Given the description of an element on the screen output the (x, y) to click on. 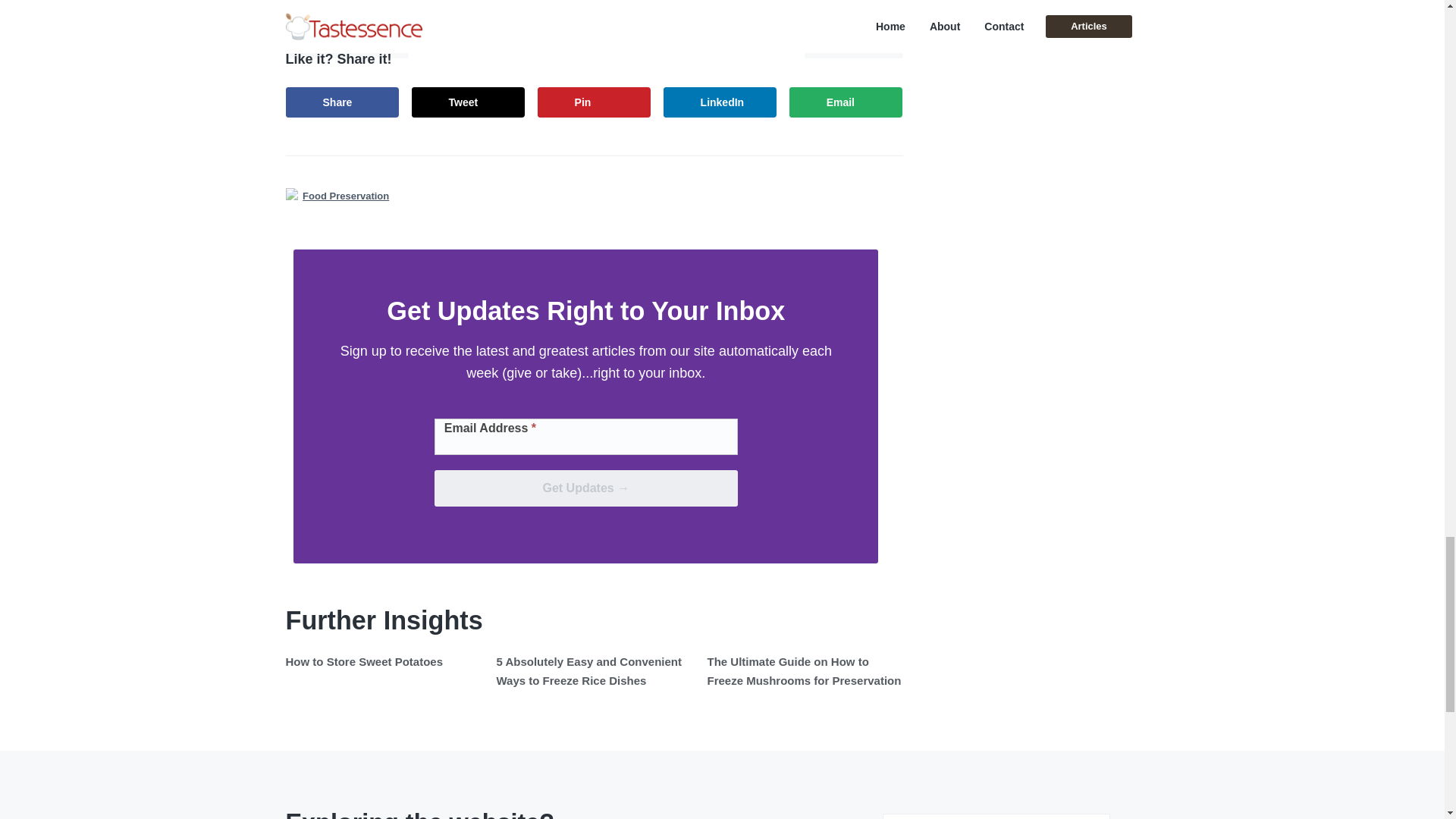
LinkedIn (720, 101)
Email (845, 101)
Pin (593, 101)
Share (341, 101)
Share on X (468, 101)
How to Store Sweet Potatoes (363, 661)
Share on LinkedIn (720, 101)
Food Preservation (345, 195)
Share on Facebook (341, 101)
Save to Pinterest (593, 101)
5 Absolutely Easy and Convenient Ways to Freeze Rice Dishes (588, 670)
Tweet (468, 101)
Send over email (845, 101)
